Given the description of an element on the screen output the (x, y) to click on. 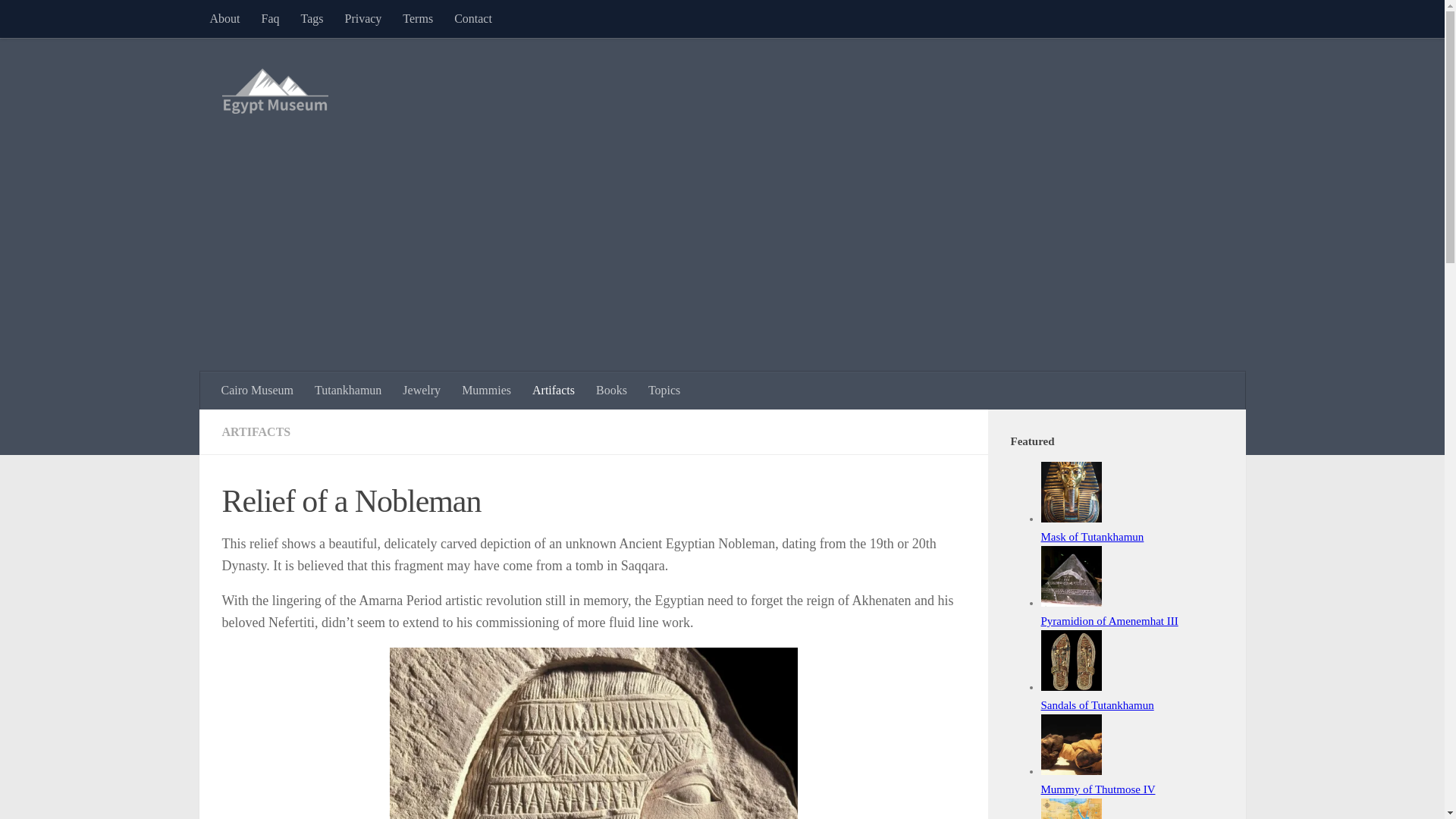
Artifacts (553, 390)
Contact (473, 18)
Terms (417, 18)
Topics (663, 390)
Jewelry (421, 390)
Faq (269, 18)
Cairo Museum (257, 390)
About (224, 18)
Privacy (362, 18)
ARTIFACTS (255, 431)
